Given the description of an element on the screen output the (x, y) to click on. 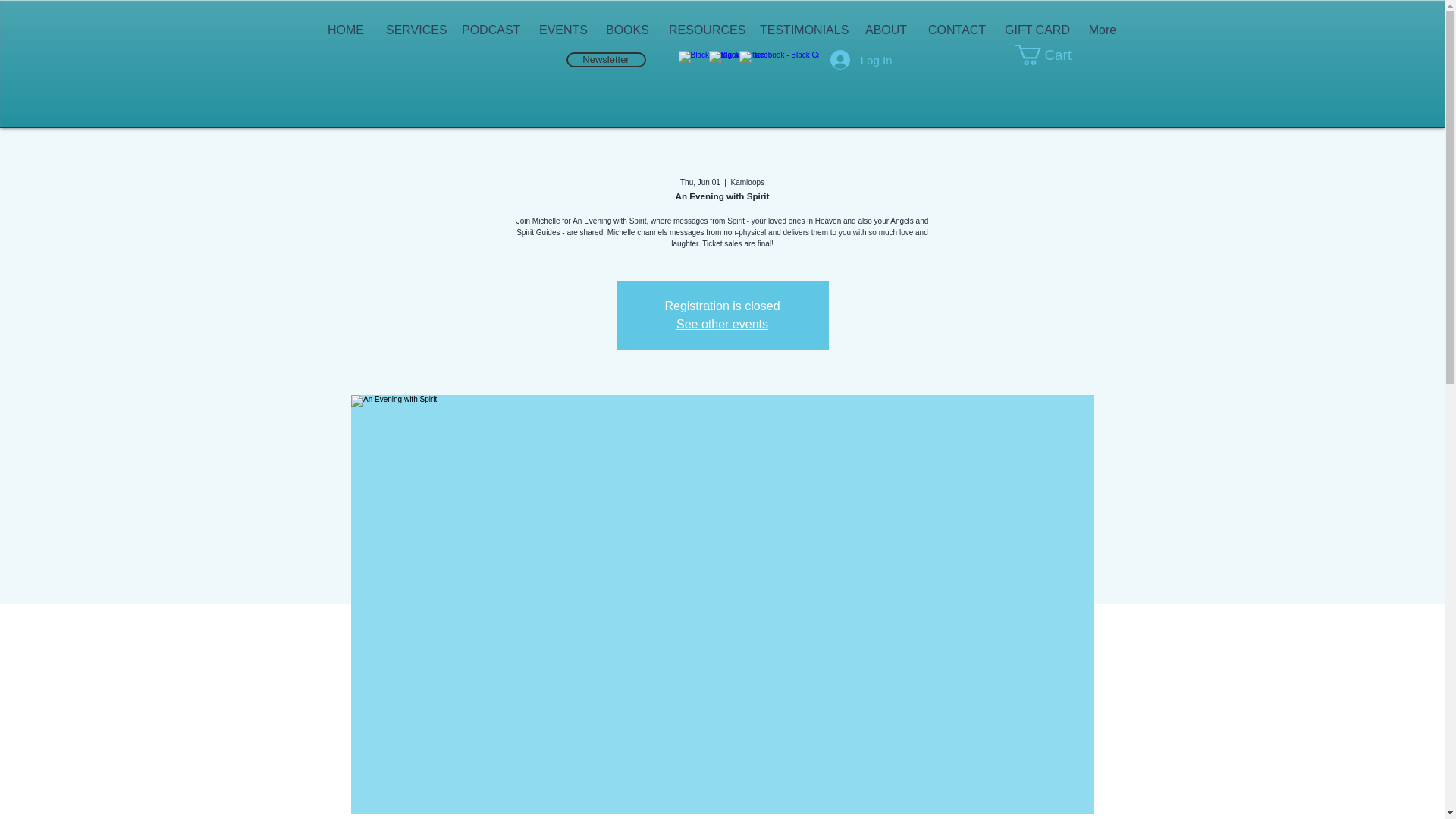
Newsletter (605, 59)
PODCAST (488, 30)
GIFT CARD (1033, 30)
CONTACT (954, 30)
Cart (1053, 55)
RESOURCES (703, 30)
HOME (344, 30)
See other events (722, 323)
BOOKS (626, 30)
EVENTS (560, 30)
